Given the description of an element on the screen output the (x, y) to click on. 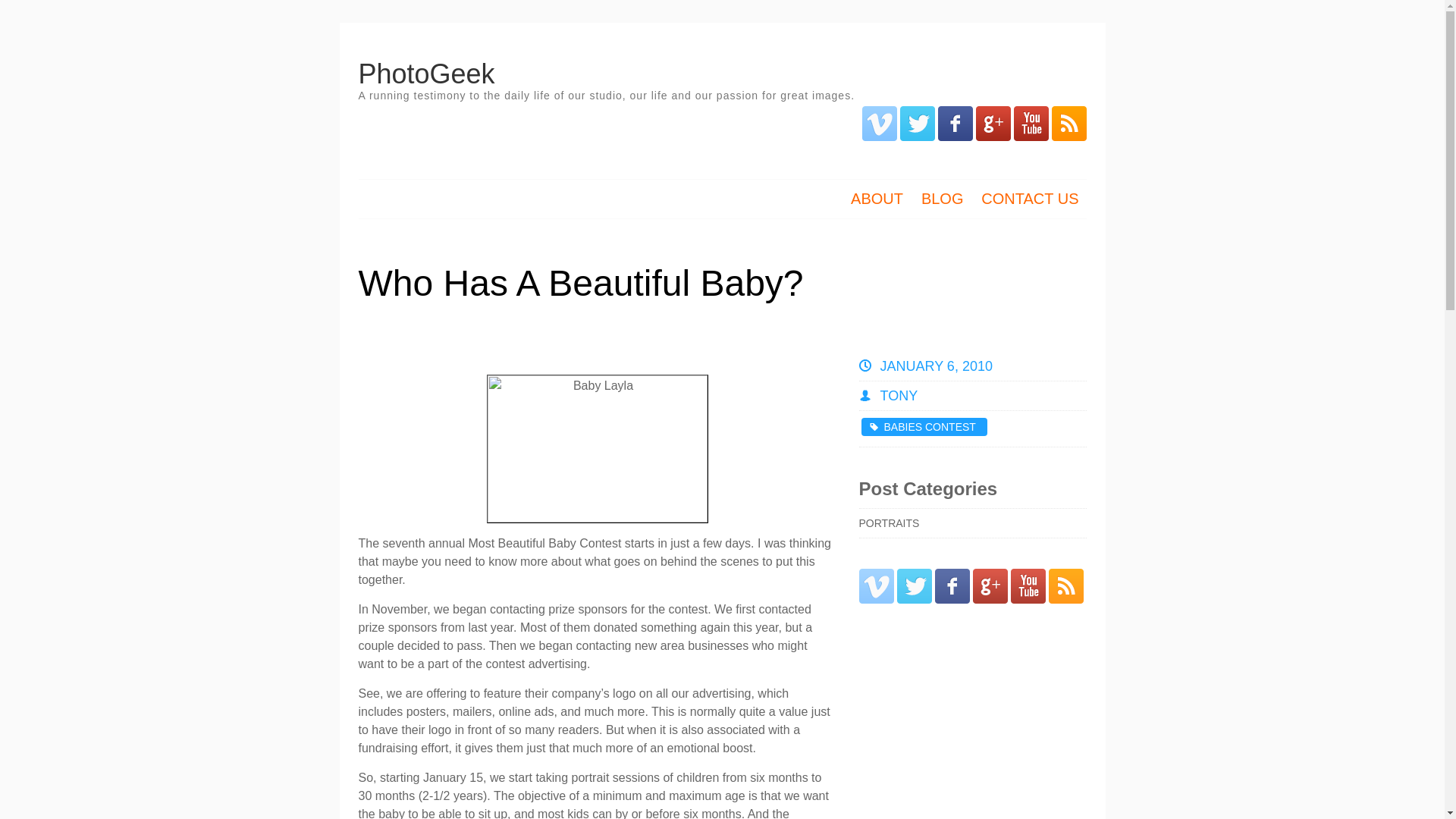
Baby Layla (596, 448)
JANUARY 6, 2010 (935, 365)
TONY (898, 395)
PhotoGeek (426, 73)
CONTACT US (1029, 200)
BLOG (942, 200)
PORTRAITS (888, 522)
